Given the description of an element on the screen output the (x, y) to click on. 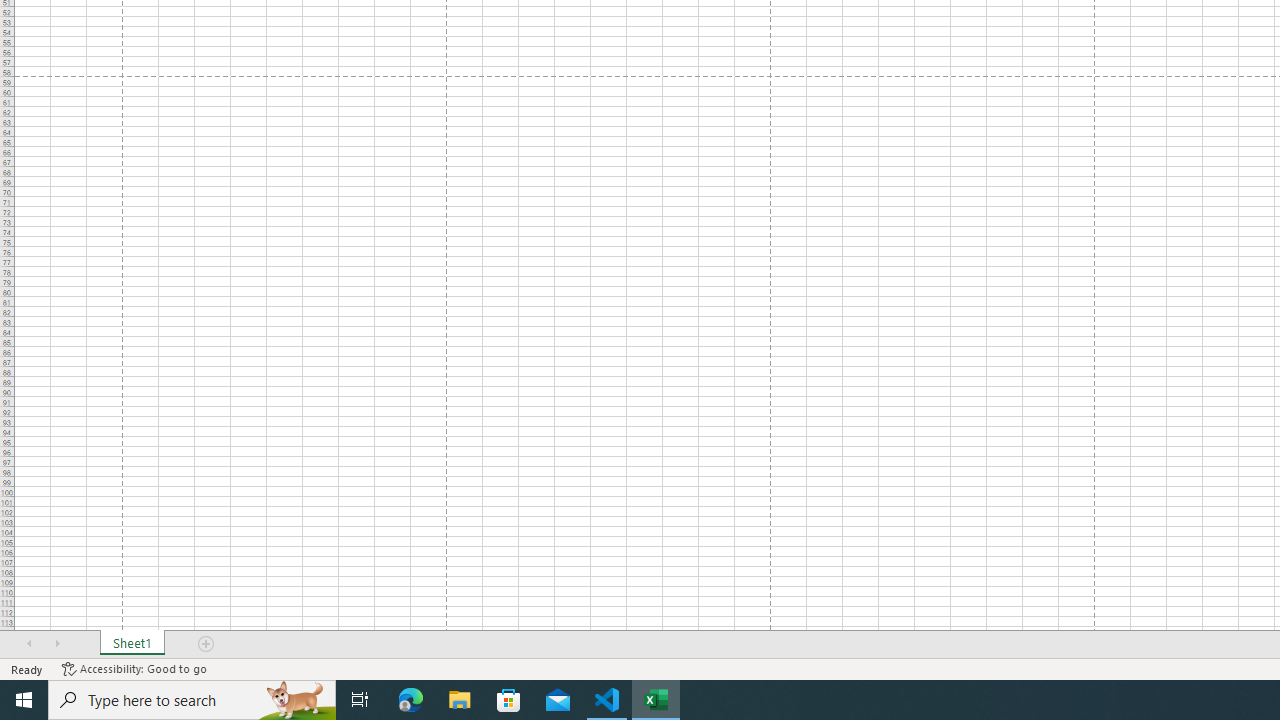
Accessibility Checker Accessibility: Good to go (134, 668)
Scroll Left (29, 644)
Add Sheet (207, 644)
Sheet1 (132, 644)
Scroll Right (57, 644)
